Given the description of an element on the screen output the (x, y) to click on. 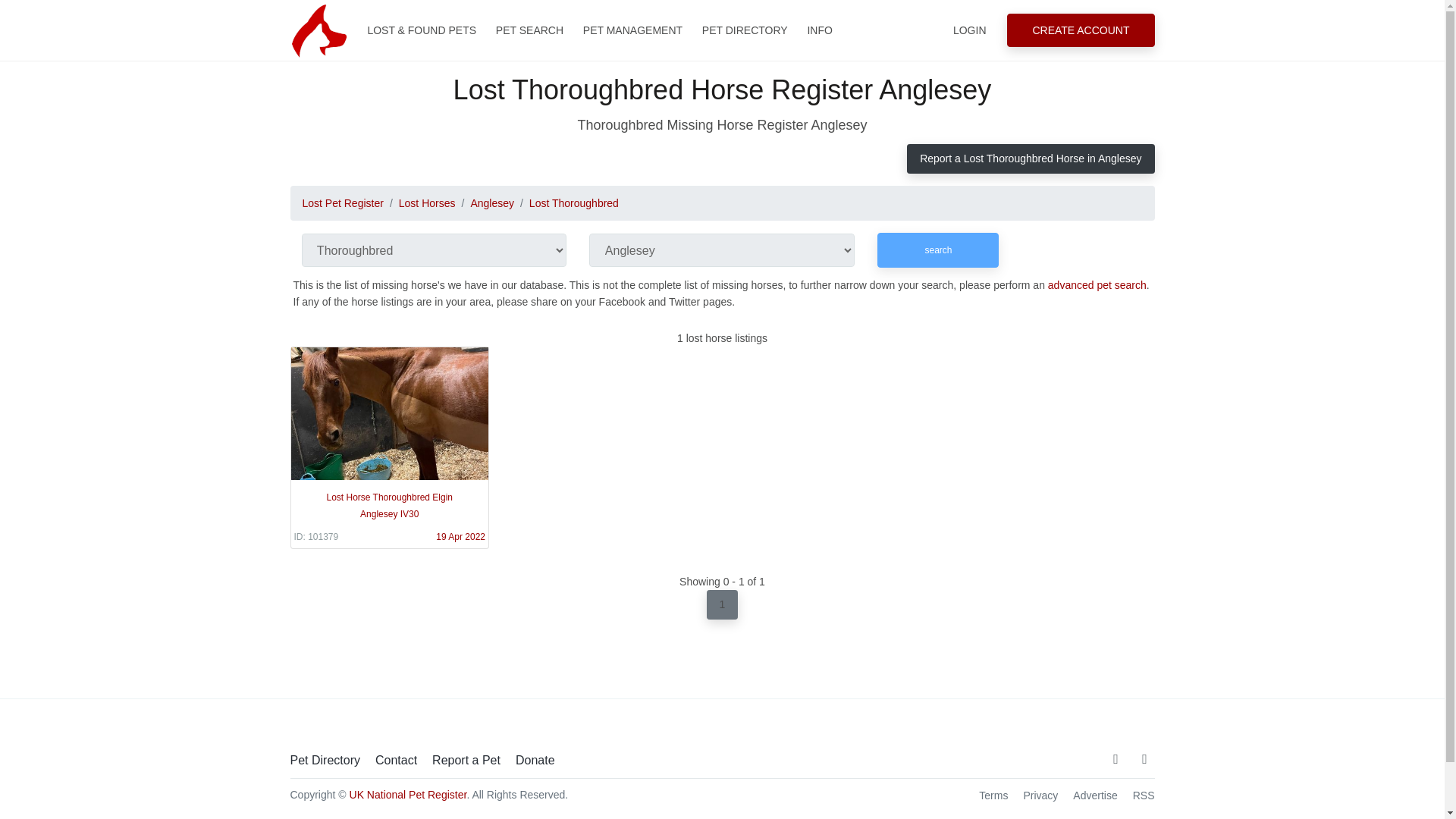
National Pet Register (317, 30)
CREATE ACCOUNT (1080, 29)
PET MANAGEMENT (632, 30)
INFO (819, 30)
Anglesey (491, 203)
LOGIN (968, 30)
search (937, 249)
Lost Thoroughbred (573, 203)
Lost Horses (426, 203)
advanced pet search (1097, 285)
PET SEARCH (529, 30)
Report a Lost Thoroughbred Horse in Anglesey (1030, 158)
PET DIRECTORY (744, 30)
Lost Horse Thoroughbred Elgin  (389, 447)
Lost Pet Register (341, 203)
